Given the description of an element on the screen output the (x, y) to click on. 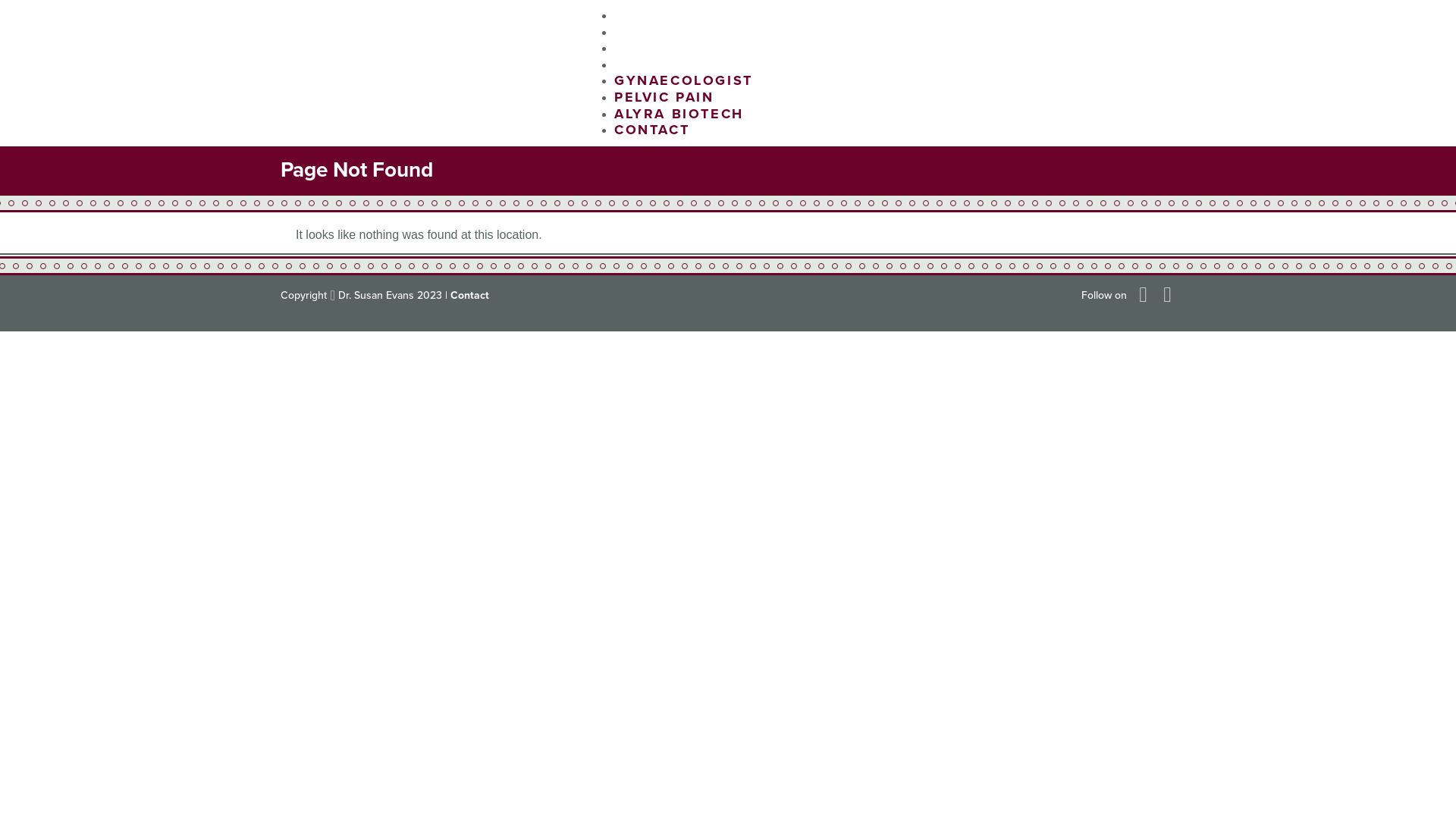
ALYRA BIOTECH Element type: text (678, 113)
CONTACT Element type: text (651, 64)
PELVIC PAIN Element type: text (664, 31)
PELVIC PAIN Element type: text (664, 96)
A/PROF. SUSAN EVANS Element type: text (408, 72)
GYNAECOLOGIST Element type: text (683, 80)
CONTACT Element type: text (651, 129)
ALYRA BIOTECH Element type: text (678, 47)
GYNAECOLOGIST Element type: text (683, 15)
Contact Element type: text (469, 295)
